Given the description of an element on the screen output the (x, y) to click on. 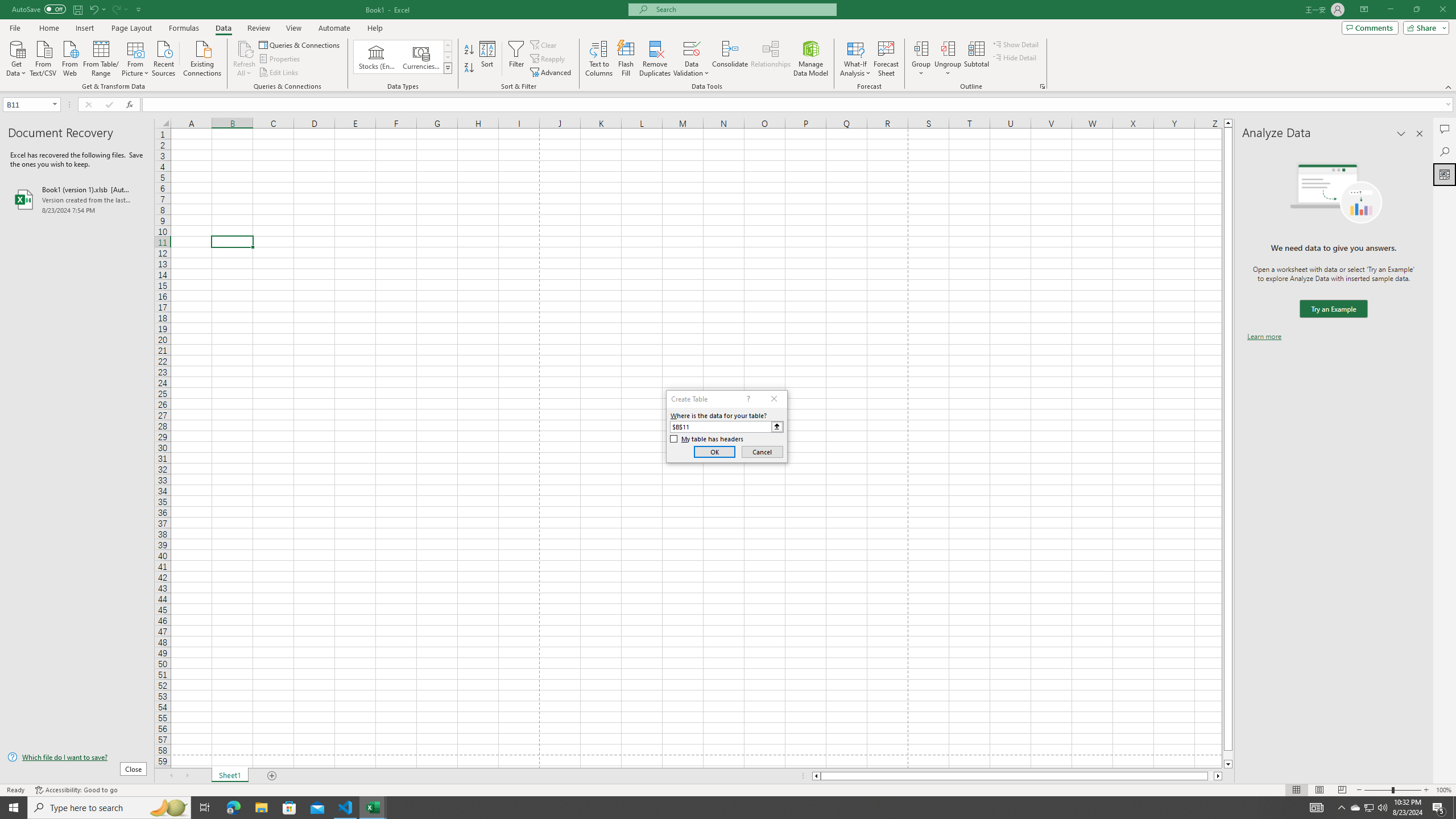
Automate (334, 28)
Class: NetUIImage (447, 68)
Subtotal (976, 58)
Data Types (448, 67)
Close pane (1419, 133)
Clear (544, 44)
Learn more (1264, 336)
Ungroup... (947, 48)
